Given the description of an element on the screen output the (x, y) to click on. 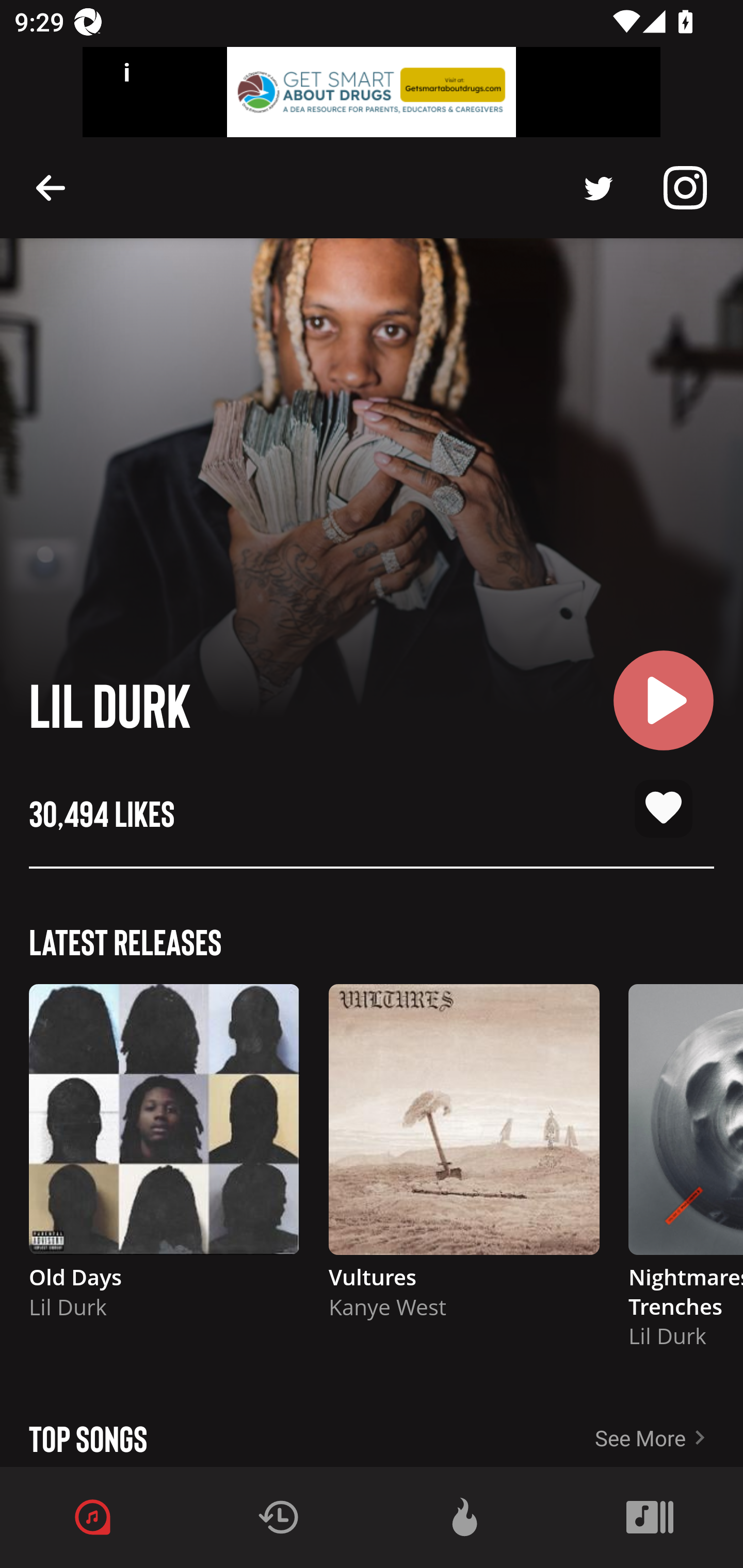
Description (50, 187)
Description (598, 188)
Description (684, 188)
Description Old Days Lil Durk (164, 1159)
Description Vultures Kanye West (463, 1159)
See More (668, 1430)
